Given the description of an element on the screen output the (x, y) to click on. 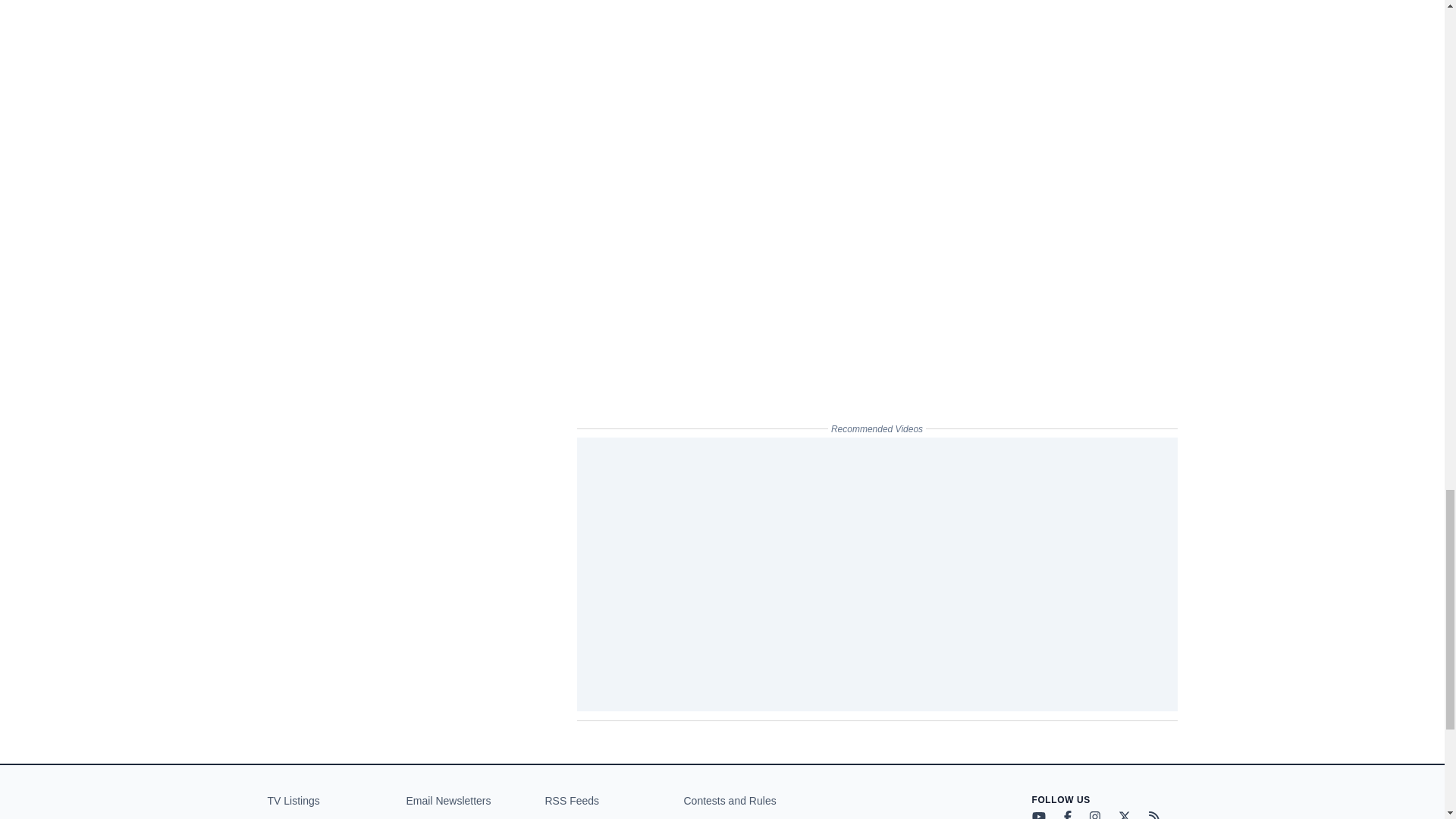
facebook (1066, 814)
instagram (1094, 814)
twitter (1123, 814)
youtube (1037, 814)
rss (1153, 814)
